Given the description of an element on the screen output the (x, y) to click on. 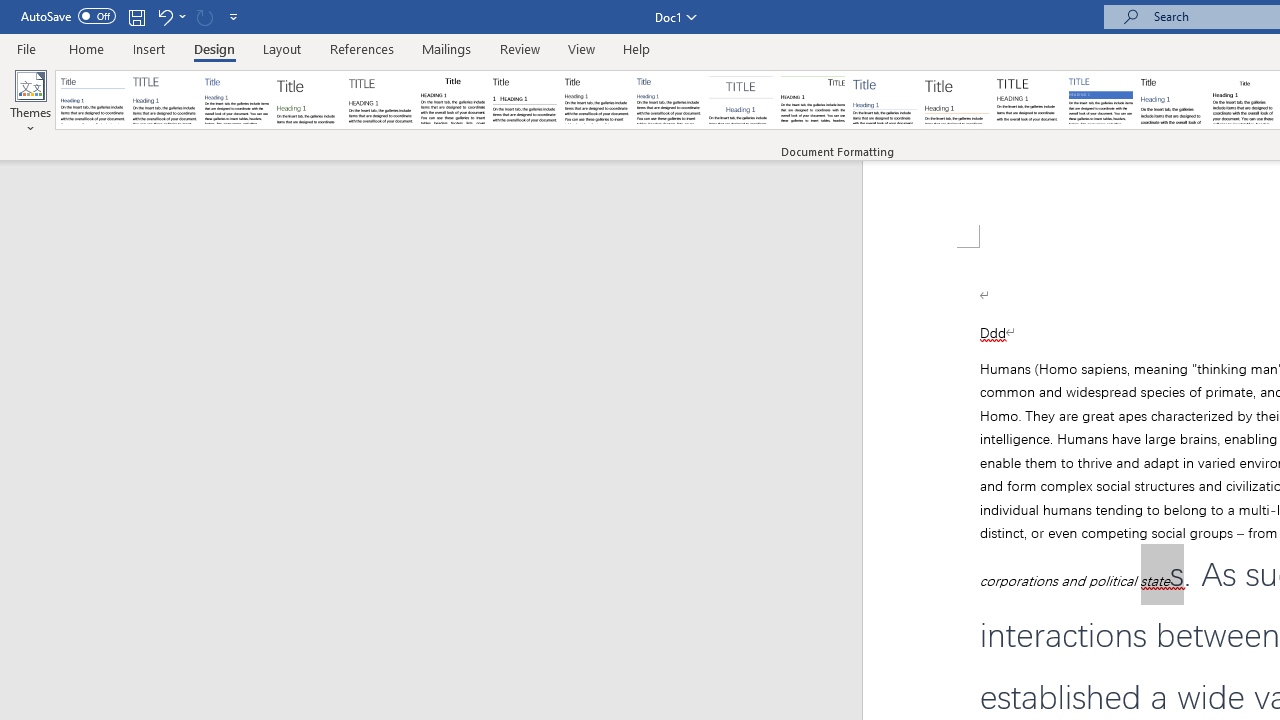
Lines (Distinctive) (812, 100)
Document (93, 100)
Basic (Simple) (236, 100)
Casual (669, 100)
Minimalist (1028, 100)
Basic (Stylish) (308, 100)
Can't Repeat (204, 15)
